Given the description of an element on the screen output the (x, y) to click on. 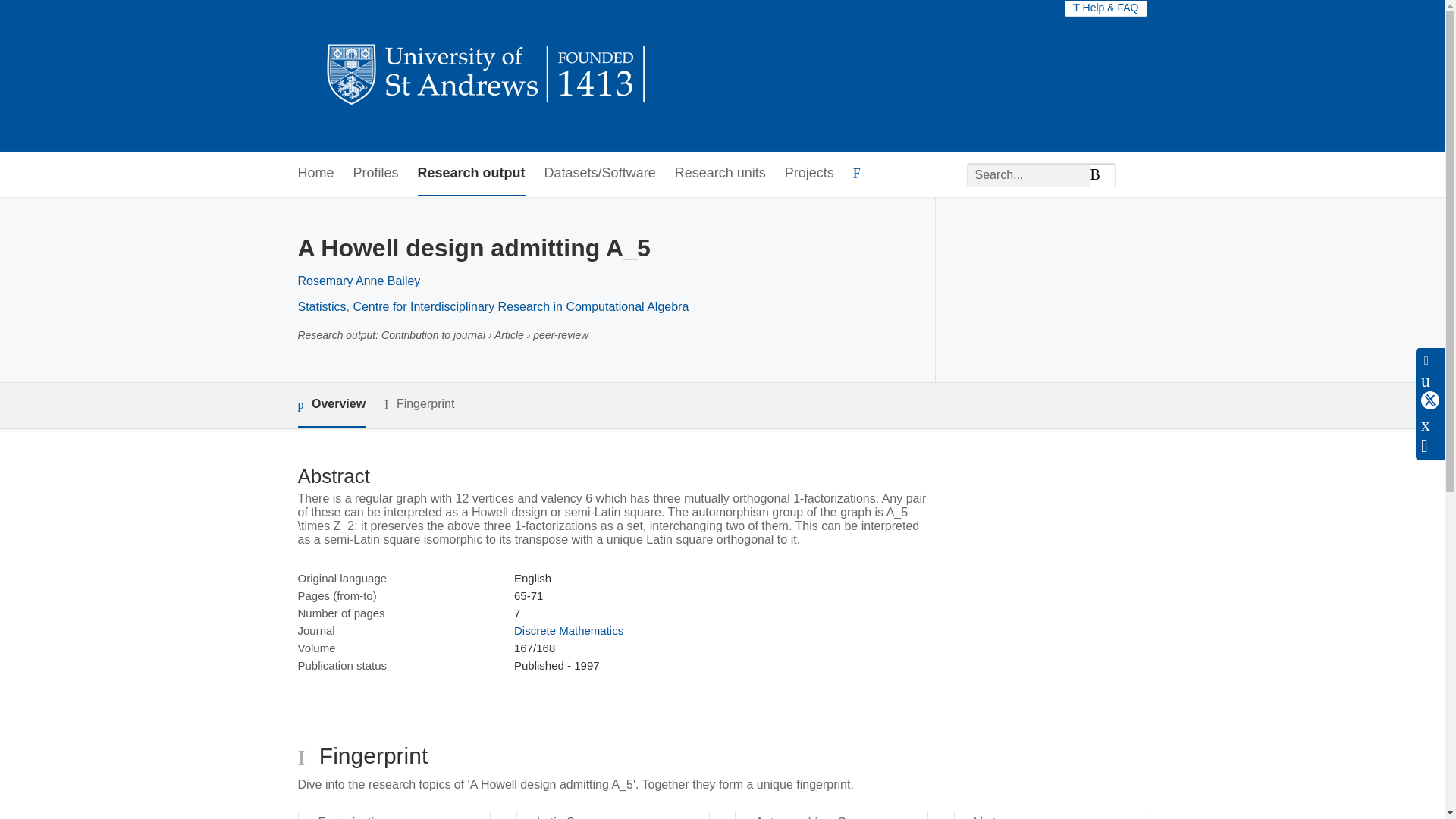
Statistics (321, 306)
Research units (720, 173)
Profiles (375, 173)
Research output (471, 173)
Fingerprint (419, 404)
Rosemary Anne Bailey (358, 280)
Discrete Mathematics (568, 630)
Projects (809, 173)
Overview (331, 405)
